Given the description of an element on the screen output the (x, y) to click on. 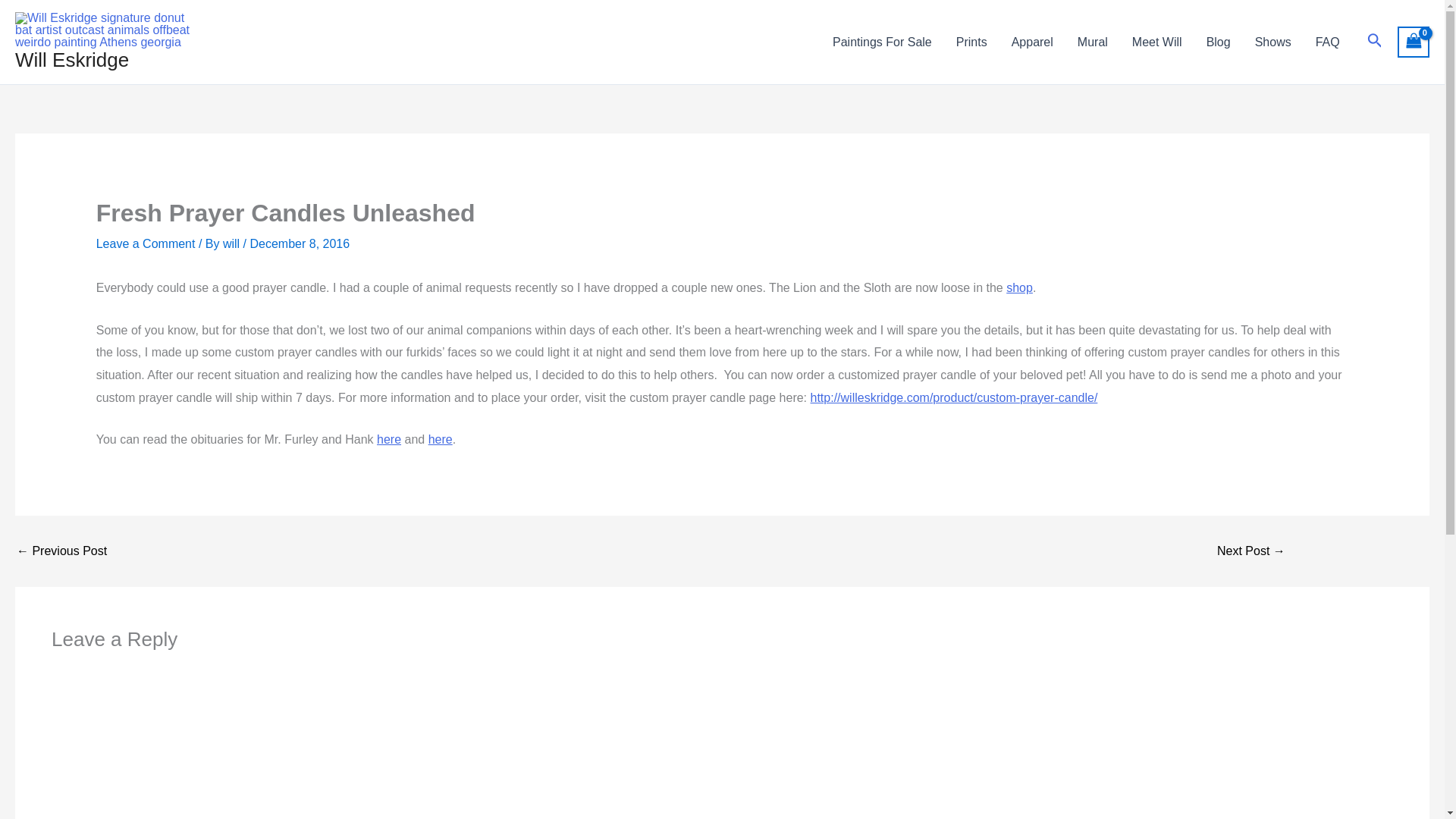
Paintings For Sale (882, 42)
View all posts by will (232, 243)
here (440, 439)
Mural (1092, 42)
Leave a Comment (145, 243)
Two Years (1251, 551)
Will Eskridge (71, 59)
Apparel (1031, 42)
Prints (970, 42)
Meet Will (1156, 42)
will (232, 243)
here (389, 439)
shop (1019, 287)
Readin' It Old School, 'Cause I'm An Old Fool (61, 551)
